Given the description of an element on the screen output the (x, y) to click on. 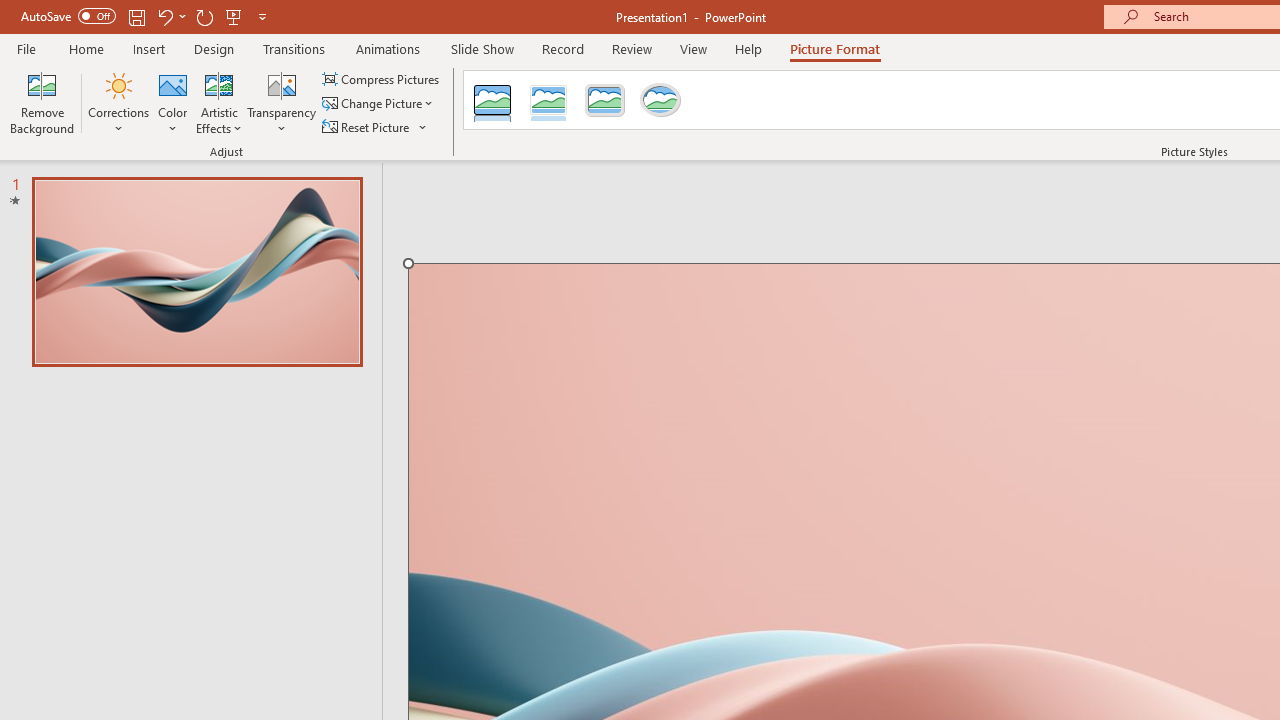
Reset Picture (367, 126)
Compress Pictures... (381, 78)
Remove Background (41, 102)
Reset Picture (375, 126)
Reflected Bevel, White (548, 100)
Artistic Effects (219, 102)
Reflected Bevel, Black (492, 100)
